Given the description of an element on the screen output the (x, y) to click on. 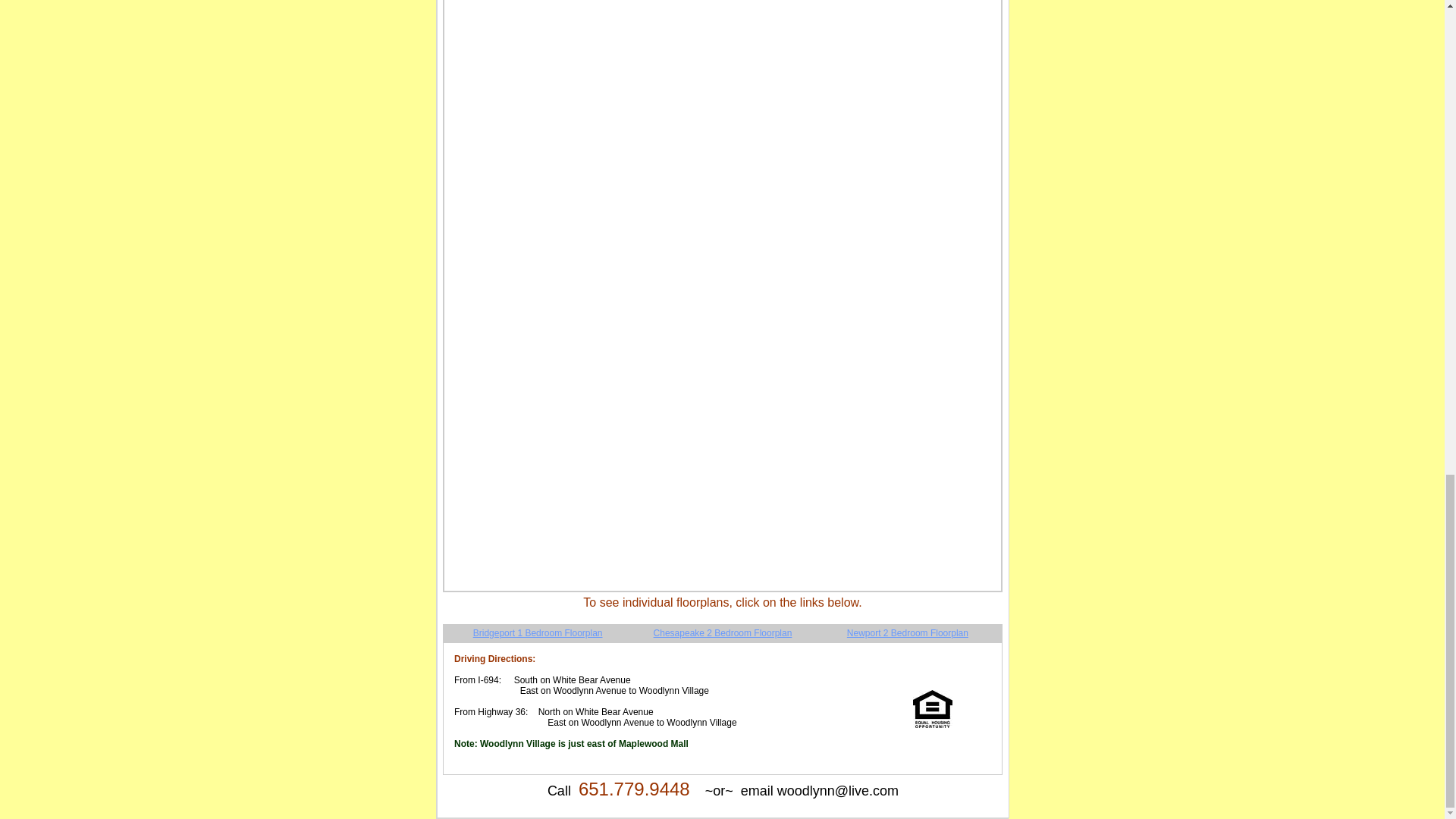
Chesapeake 2 Bedroom Floorplan (722, 633)
Bridgeport 1 Bedroom Floorplan (537, 633)
Newport 2 Bedroom Floorplan (907, 633)
